Given the description of an element on the screen output the (x, y) to click on. 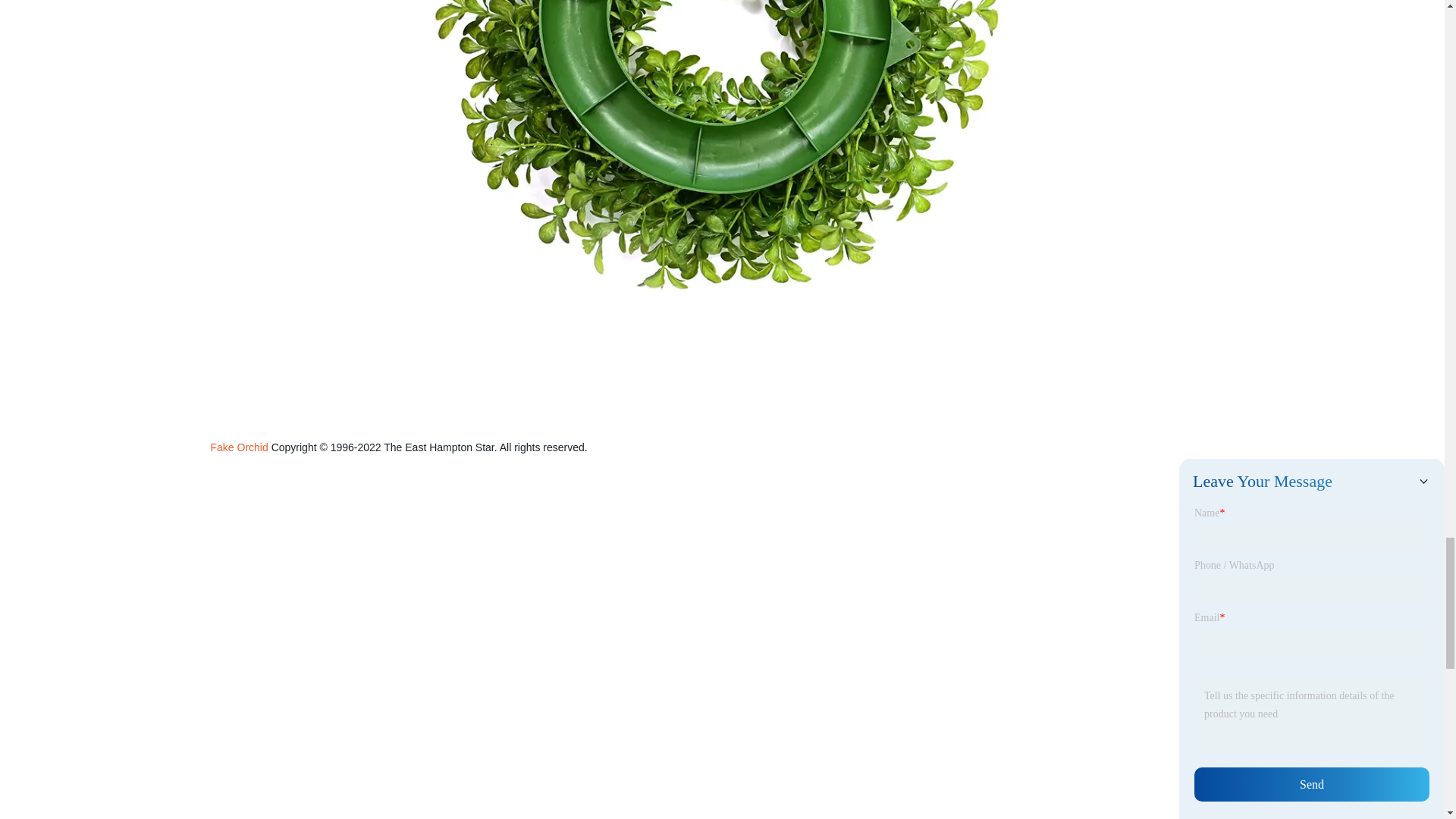
Fake Orchid (239, 447)
